Given the description of an element on the screen output the (x, y) to click on. 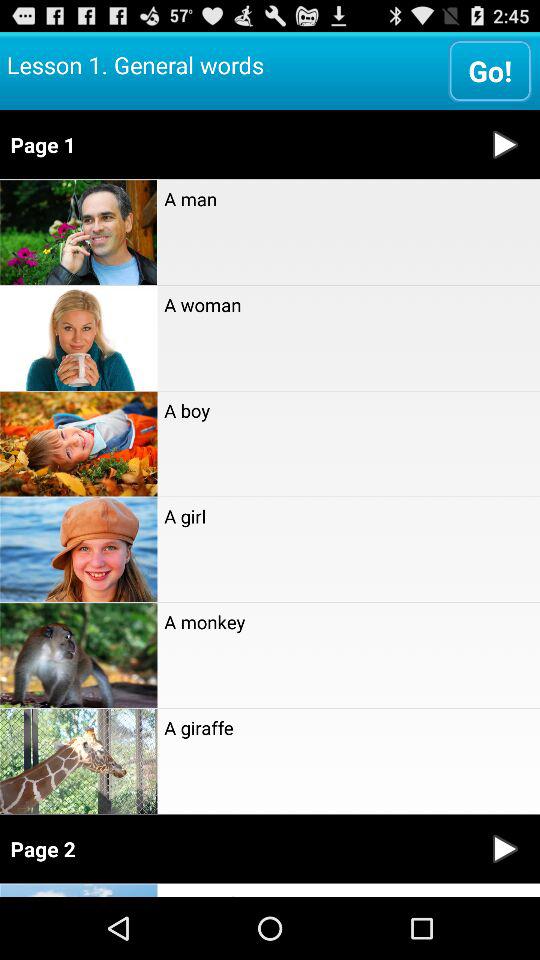
choose the icon to the right of lesson 1 general item (490, 70)
